Given the description of an element on the screen output the (x, y) to click on. 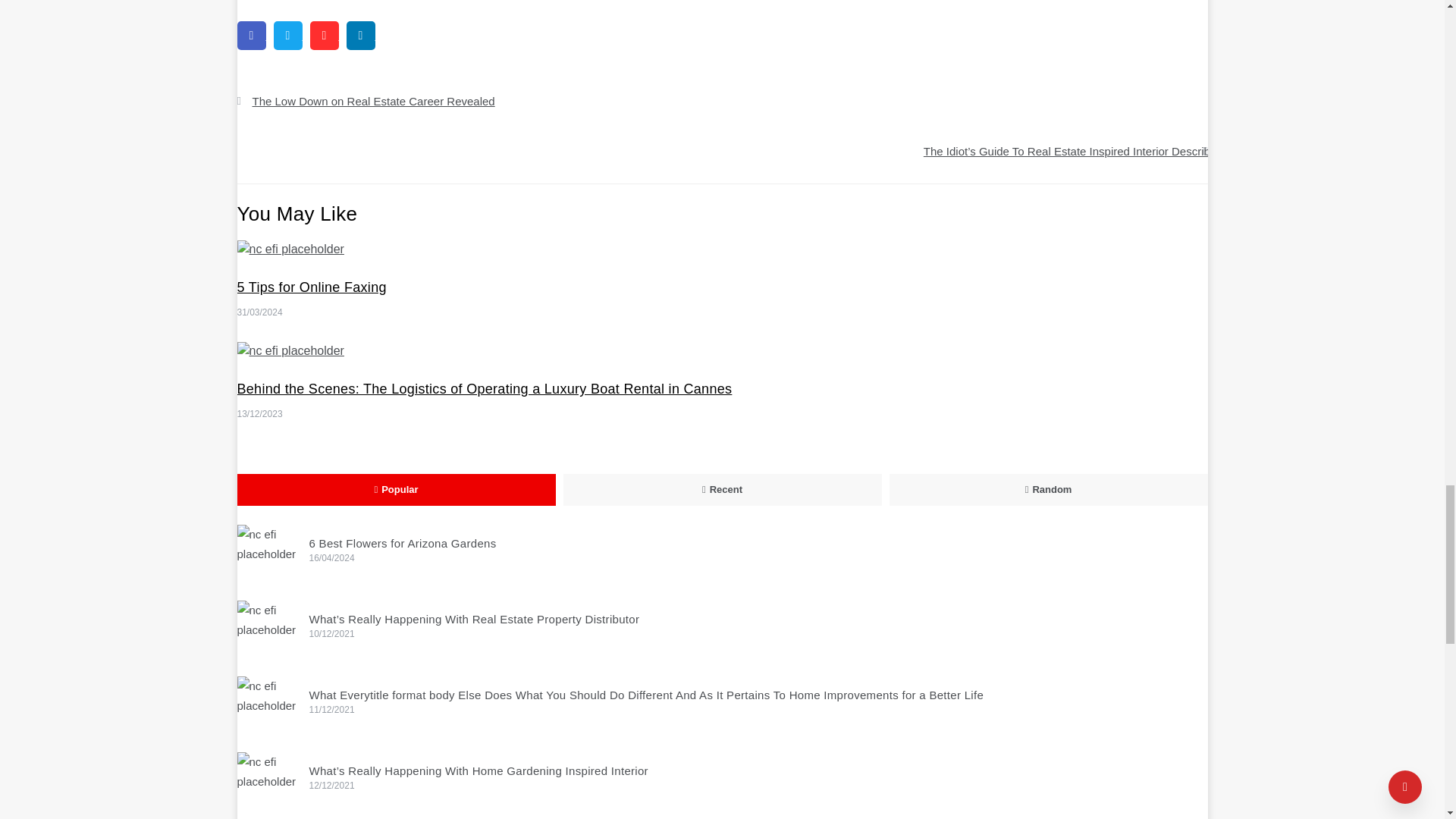
5 Tips for Online Faxing (289, 249)
6 Best Flowers for Arizona Gardens (266, 554)
